Given the description of an element on the screen output the (x, y) to click on. 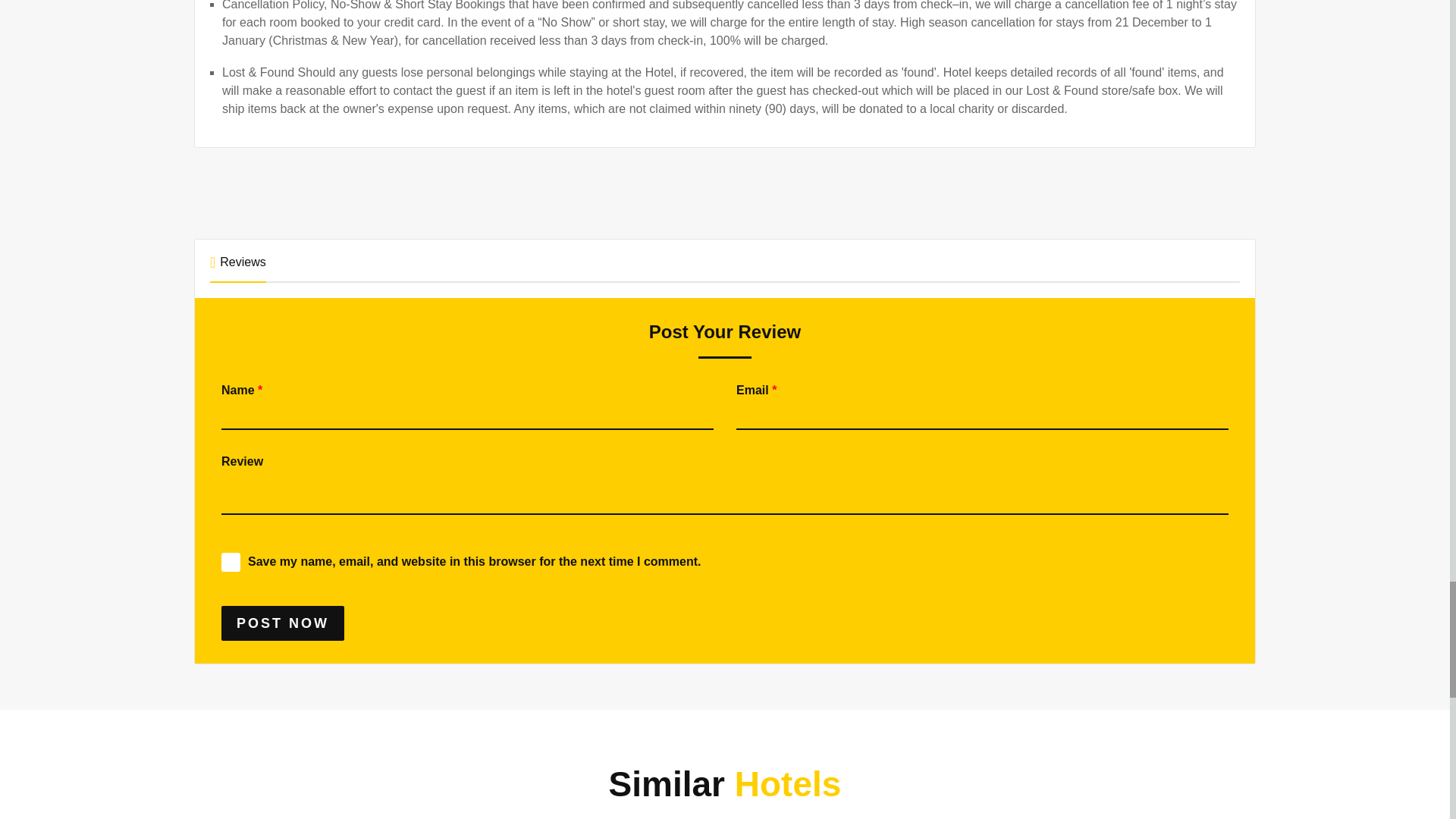
Post Now (282, 623)
